Given the description of an element on the screen output the (x, y) to click on. 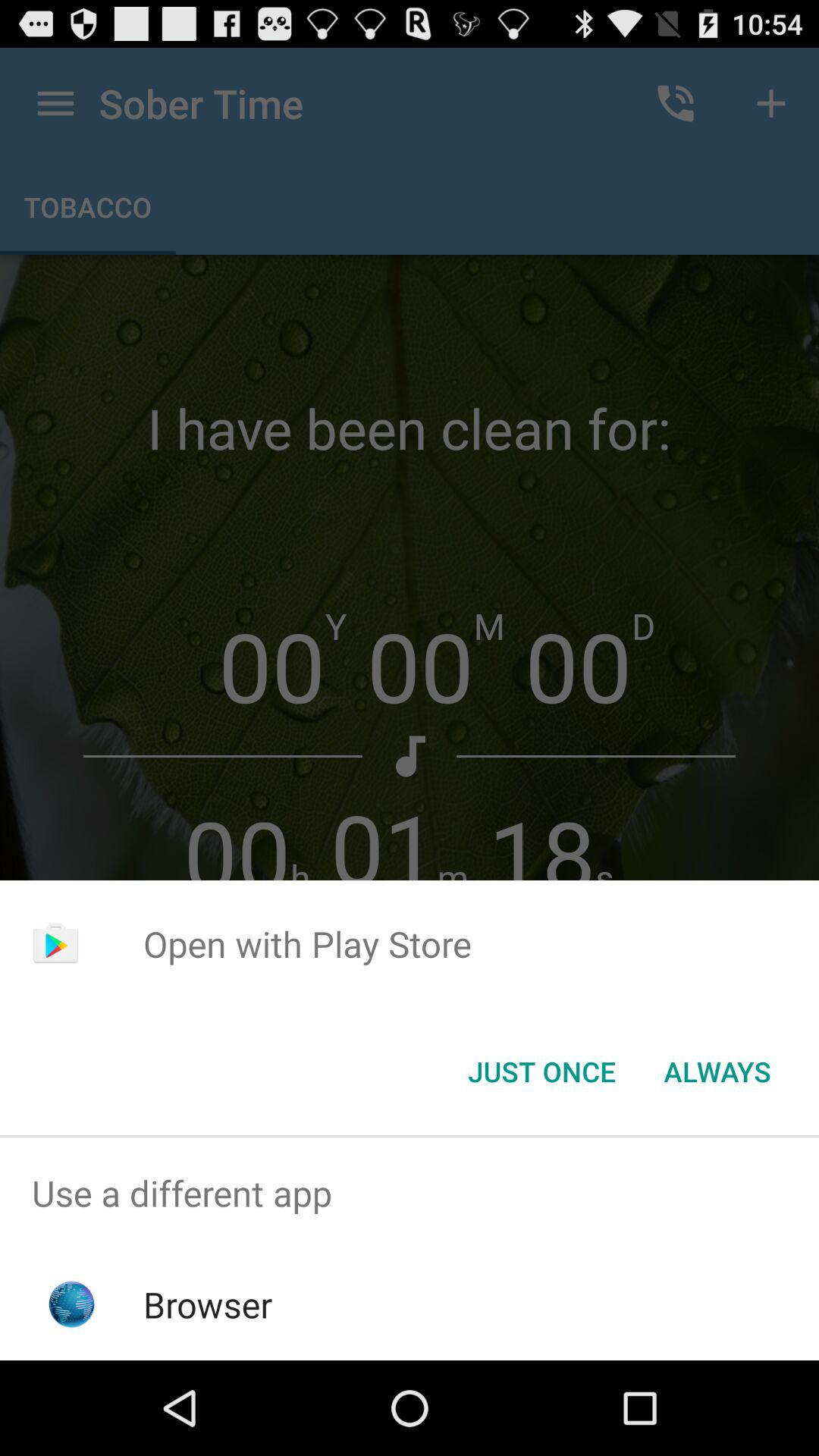
scroll until the use a different icon (409, 1192)
